Given the description of an element on the screen output the (x, y) to click on. 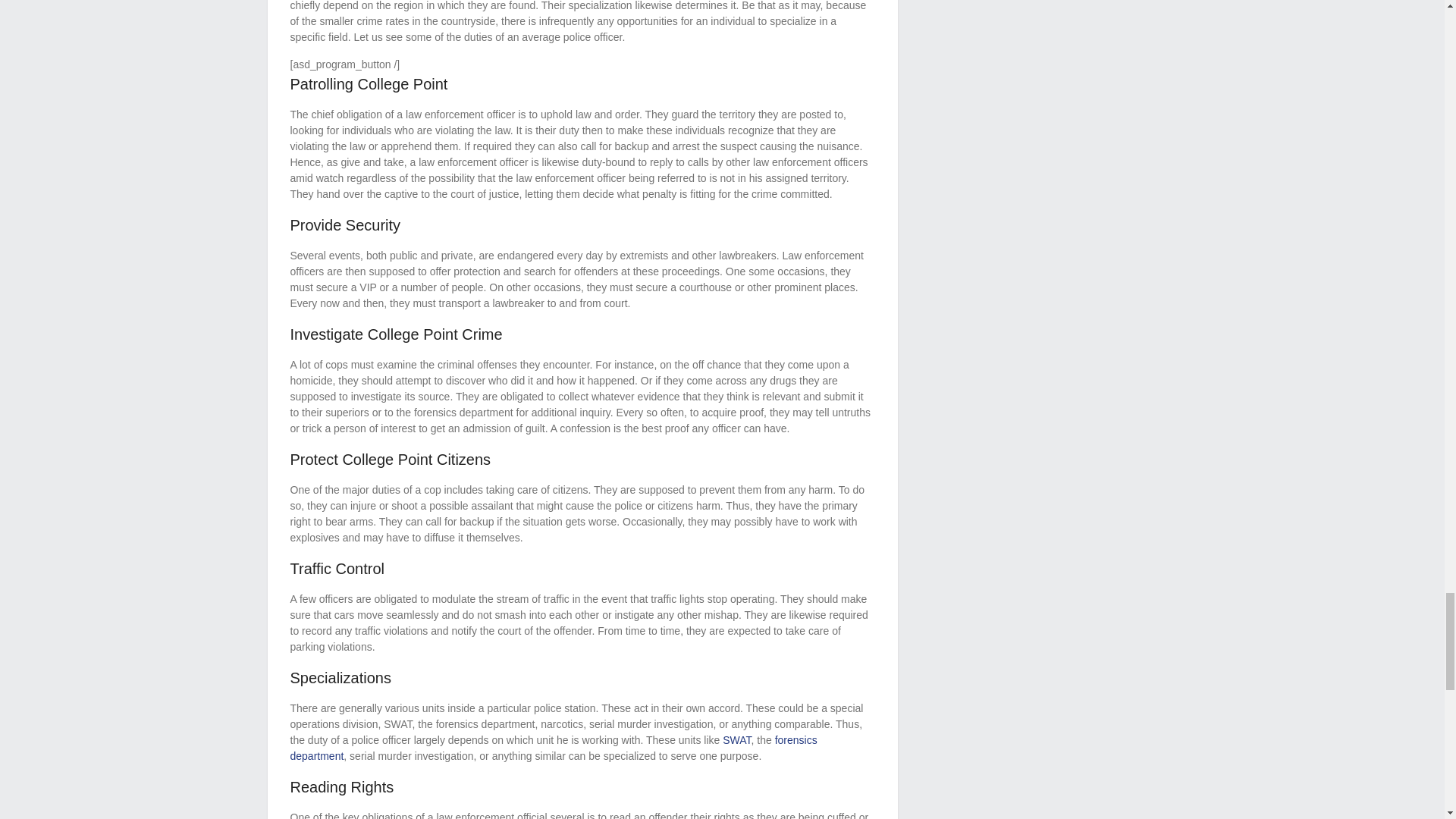
SWAT (736, 739)
